Given the description of an element on the screen output the (x, y) to click on. 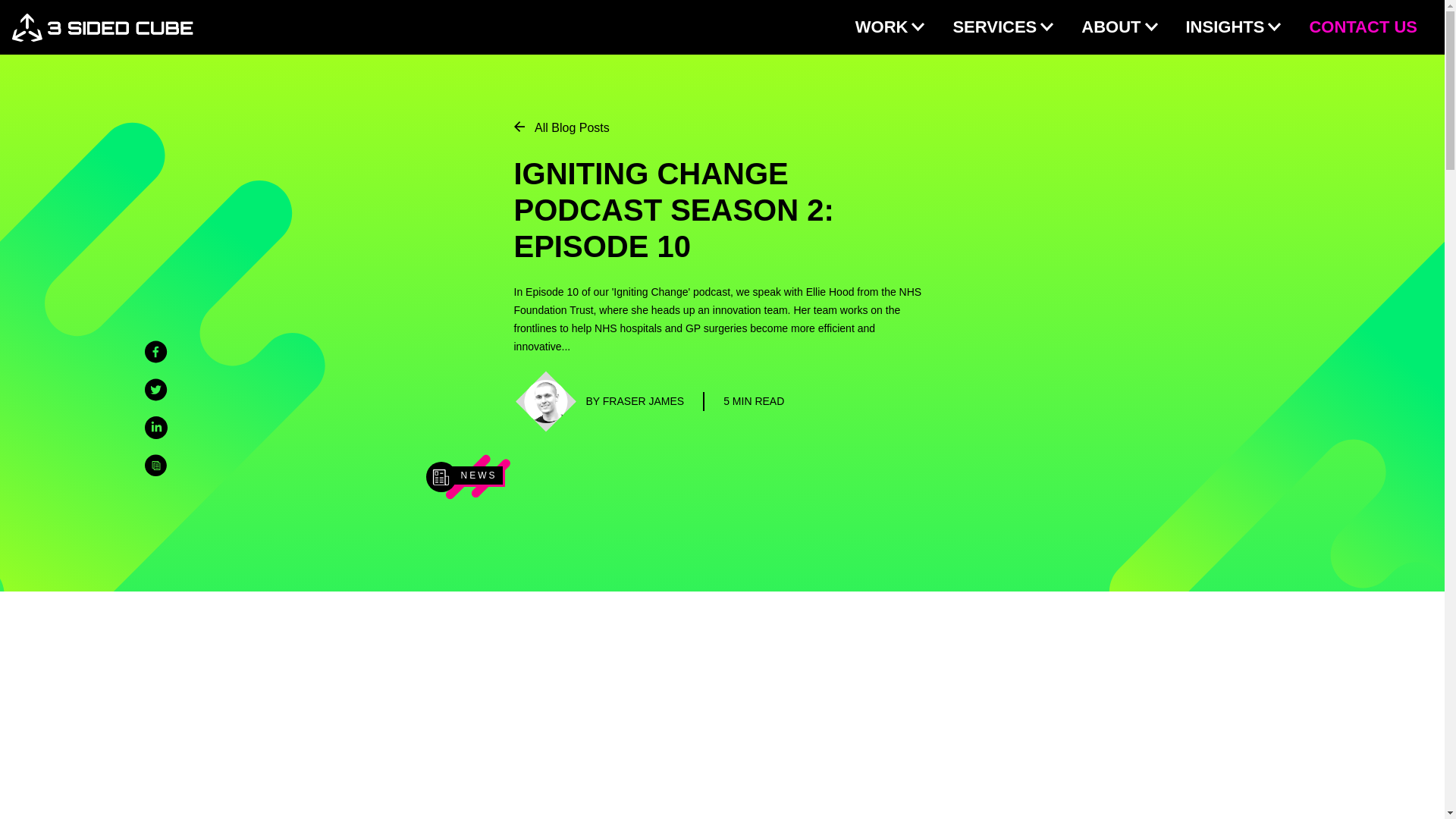
WORK (890, 27)
INSIGHTS (1233, 27)
SERVICES (994, 27)
INSIGHTS (1225, 27)
WORK (882, 27)
3 SIDED CUBE (102, 27)
ABOUT (1119, 27)
ABOUT (1110, 27)
SERVICES (1003, 27)
Posts by Fraser James (634, 401)
